Given the description of an element on the screen output the (x, y) to click on. 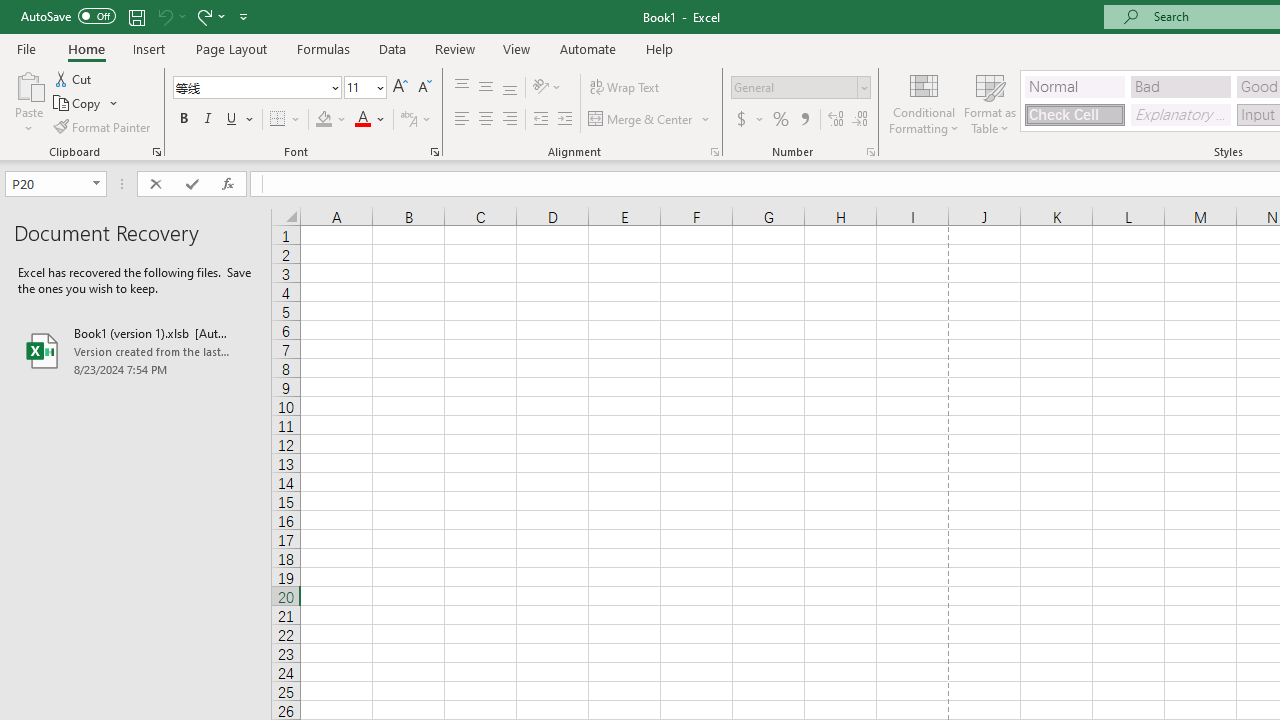
Format as Table (990, 102)
Number Format (794, 87)
Merge & Center (641, 119)
